Given the description of an element on the screen output the (x, y) to click on. 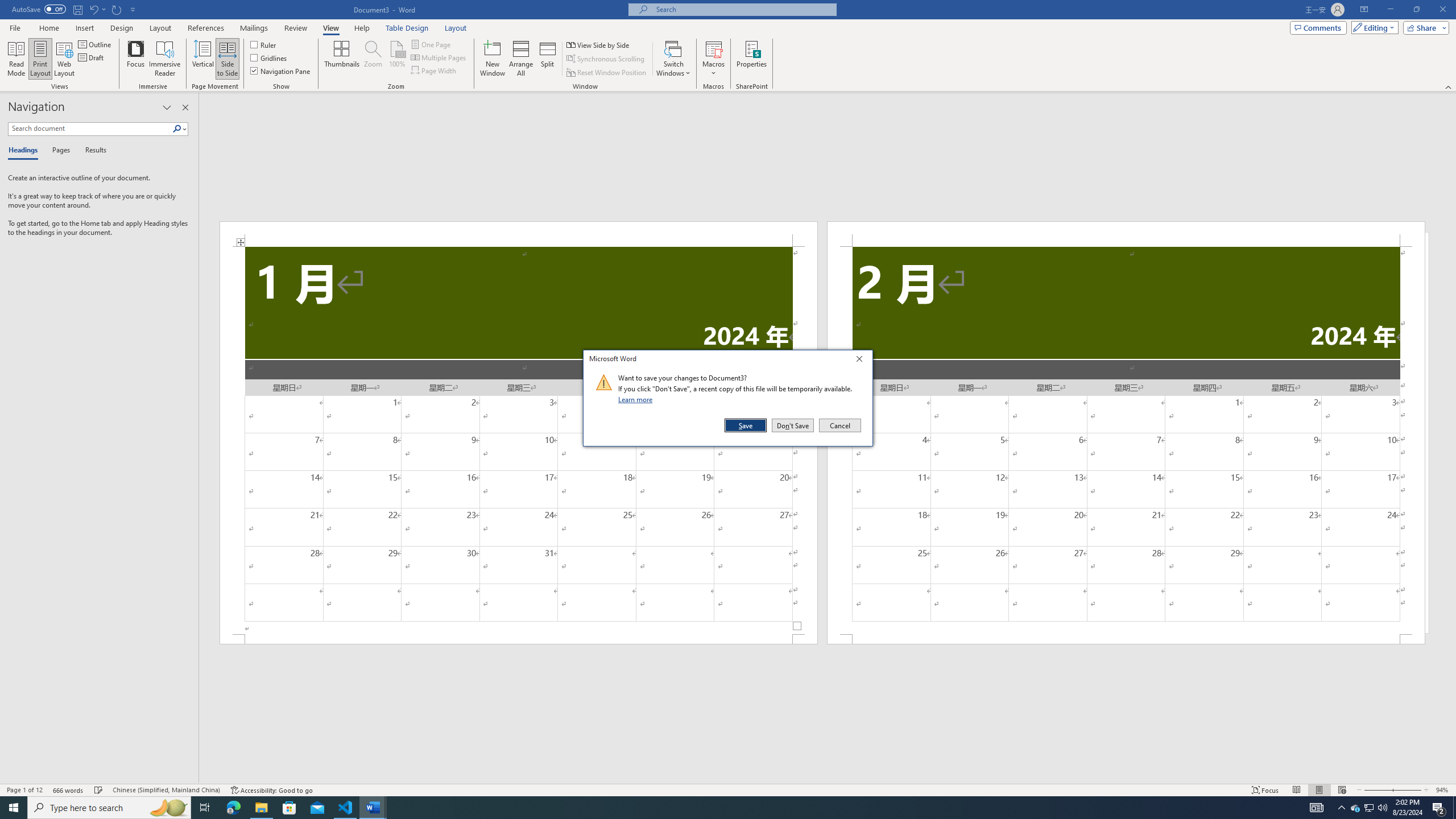
Draft (91, 56)
Mode (1372, 27)
Header -Section 2- (1126, 233)
Don't Save (792, 425)
100% (396, 58)
View Side by Side (598, 44)
Undo Increase Indent (96, 9)
